Given the description of an element on the screen output the (x, y) to click on. 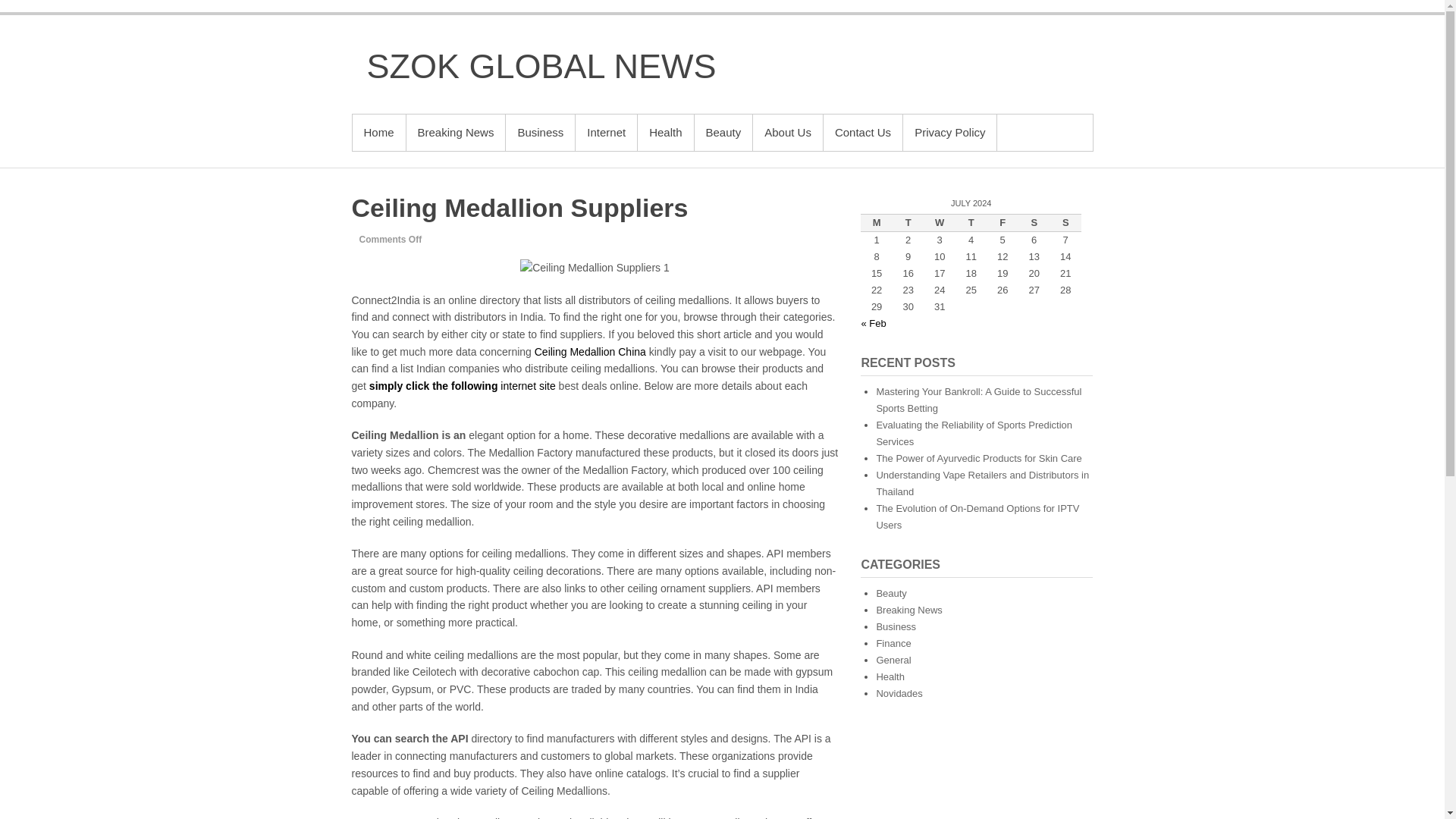
Contact Us (863, 132)
General (893, 659)
Novidades (898, 693)
Beauty (723, 132)
Saturday (1033, 222)
Breaking News (909, 609)
Finance (893, 643)
Breaking News (455, 132)
Beauty (890, 593)
Health (665, 132)
Wednesday (939, 222)
Ceiling Medallion China (590, 351)
Sunday (1065, 222)
Business (895, 626)
Evaluating the Reliability of Sports Prediction Services (973, 433)
